Given the description of an element on the screen output the (x, y) to click on. 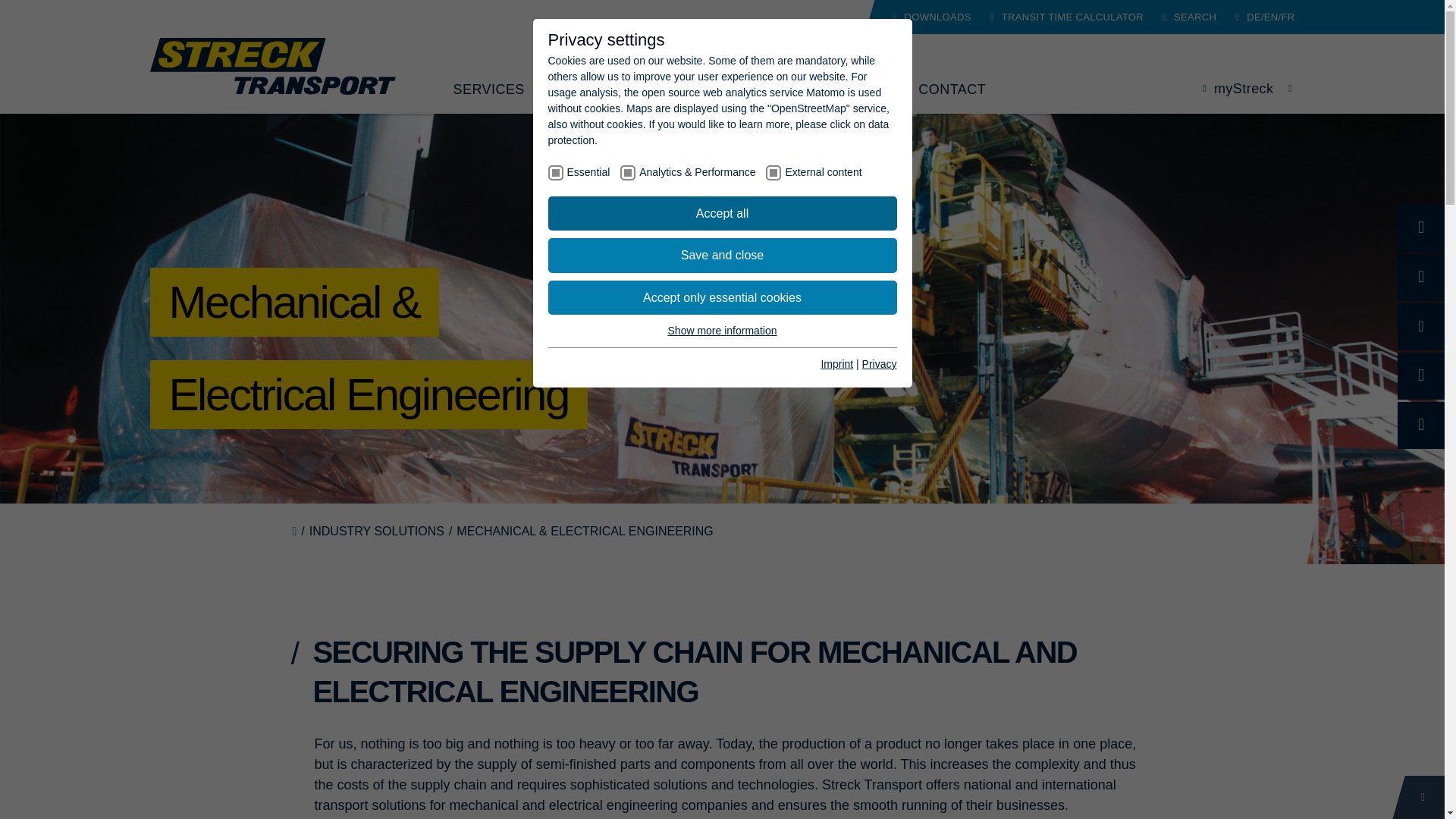
INDUSTRY SOLUTIONS (628, 90)
TRANSIT TIME CALCULATOR (1066, 16)
SEARCH (1188, 16)
Services (489, 90)
DOWNLOADS (931, 16)
SERVICES (489, 90)
search (1188, 16)
